Given the description of an element on the screen output the (x, y) to click on. 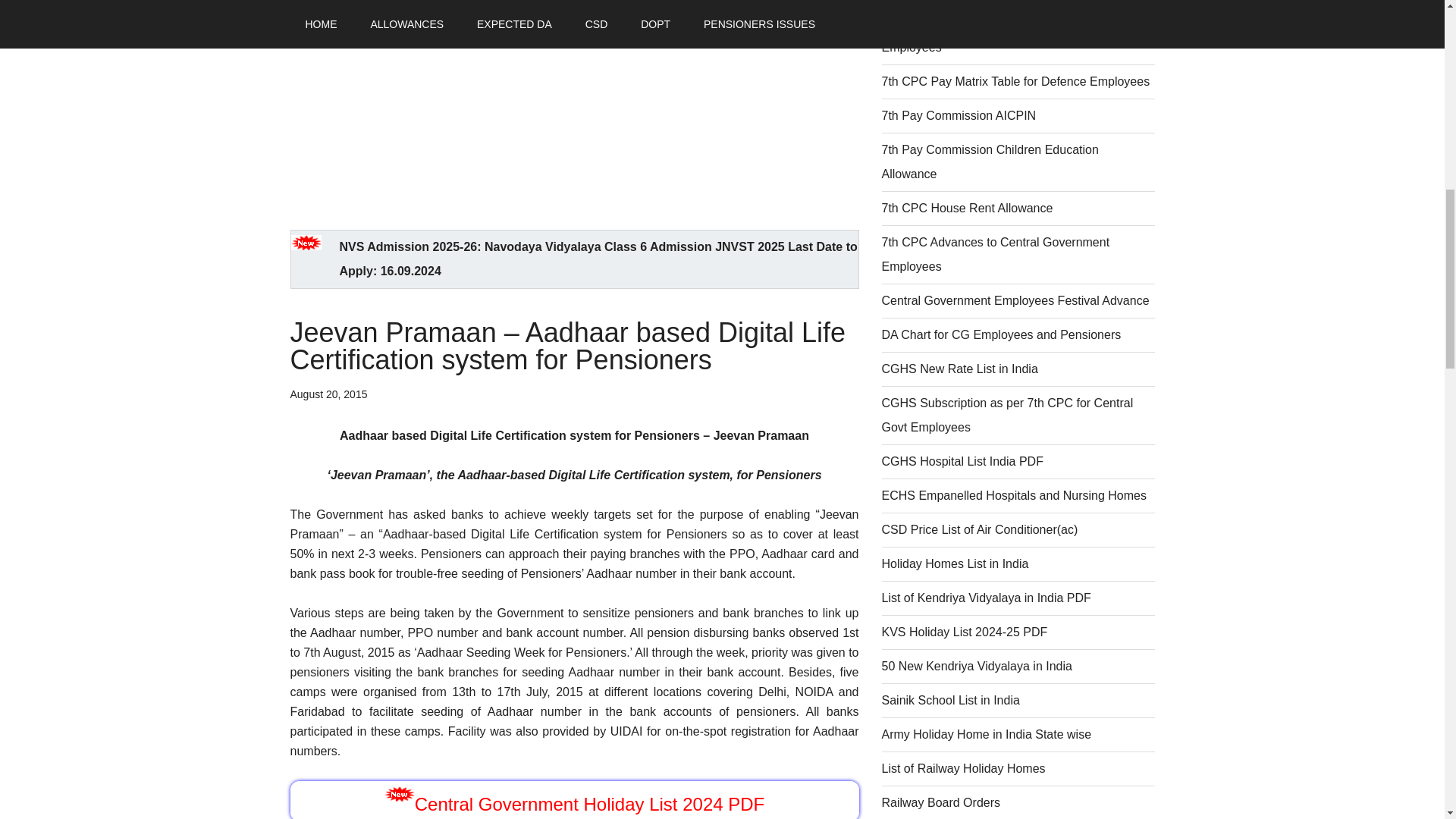
Advertisement (574, 104)
Central Government Holiday List 2024 PDF (589, 803)
